Given the description of an element on the screen output the (x, y) to click on. 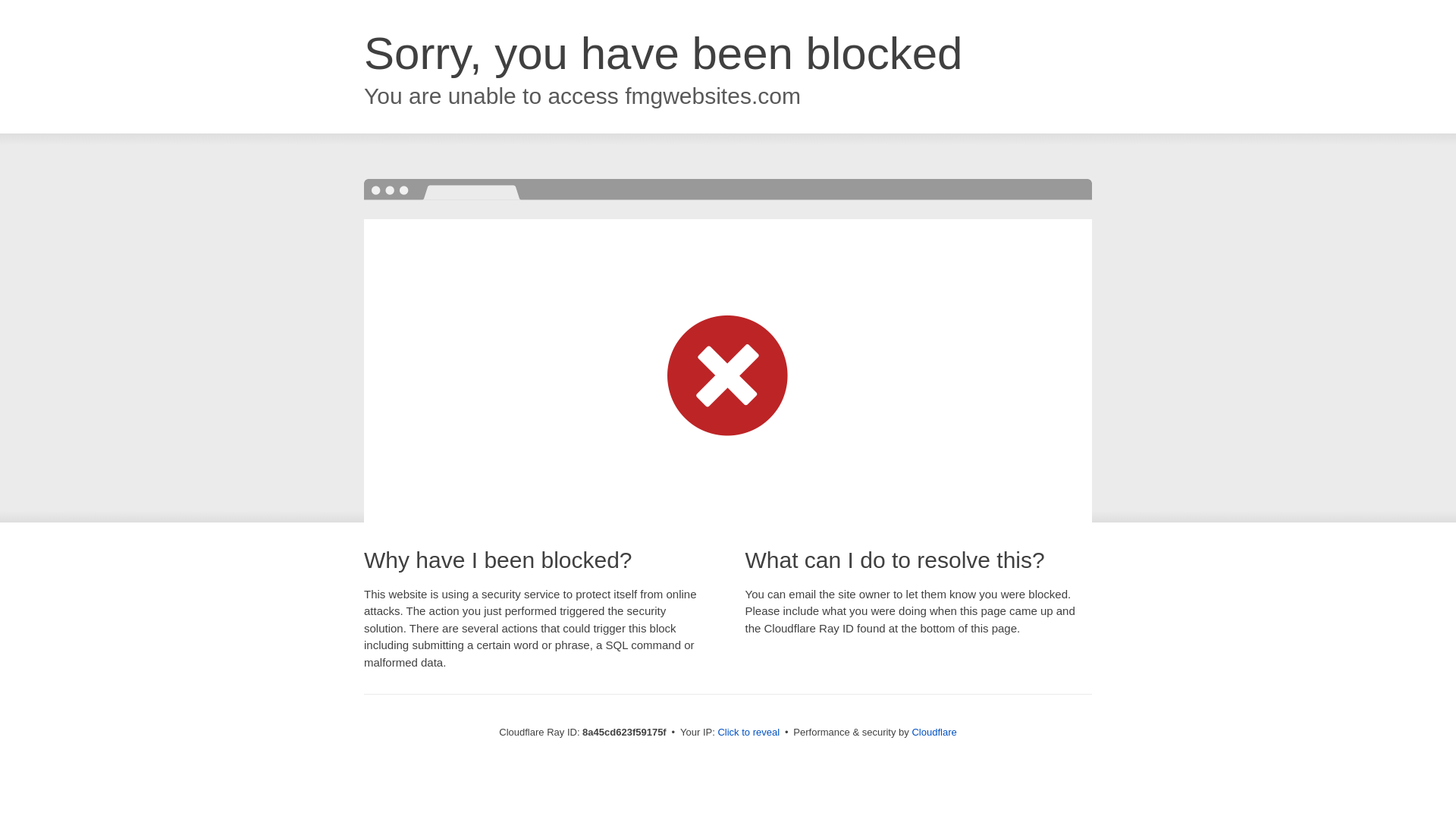
Click to reveal (747, 732)
Cloudflare (933, 731)
